Given the description of an element on the screen output the (x, y) to click on. 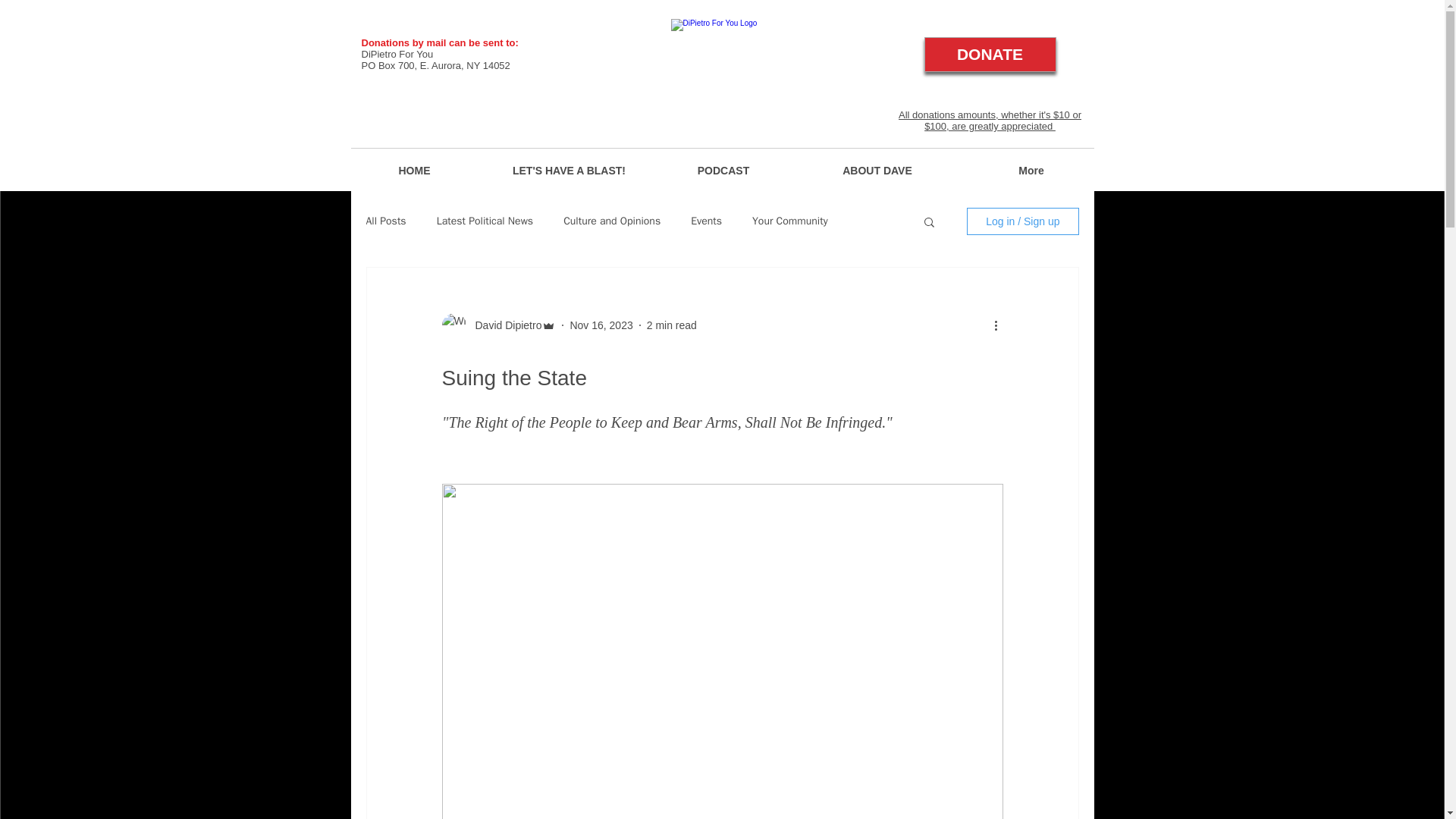
All Posts (385, 221)
Nov 16, 2023 (600, 324)
DONATE (989, 54)
PODCAST (722, 170)
Events (706, 221)
HOME (414, 170)
Culture and Opinions (612, 221)
2 min read (671, 324)
Latest Political News (485, 221)
David Dipietro (503, 324)
